Given the description of an element on the screen output the (x, y) to click on. 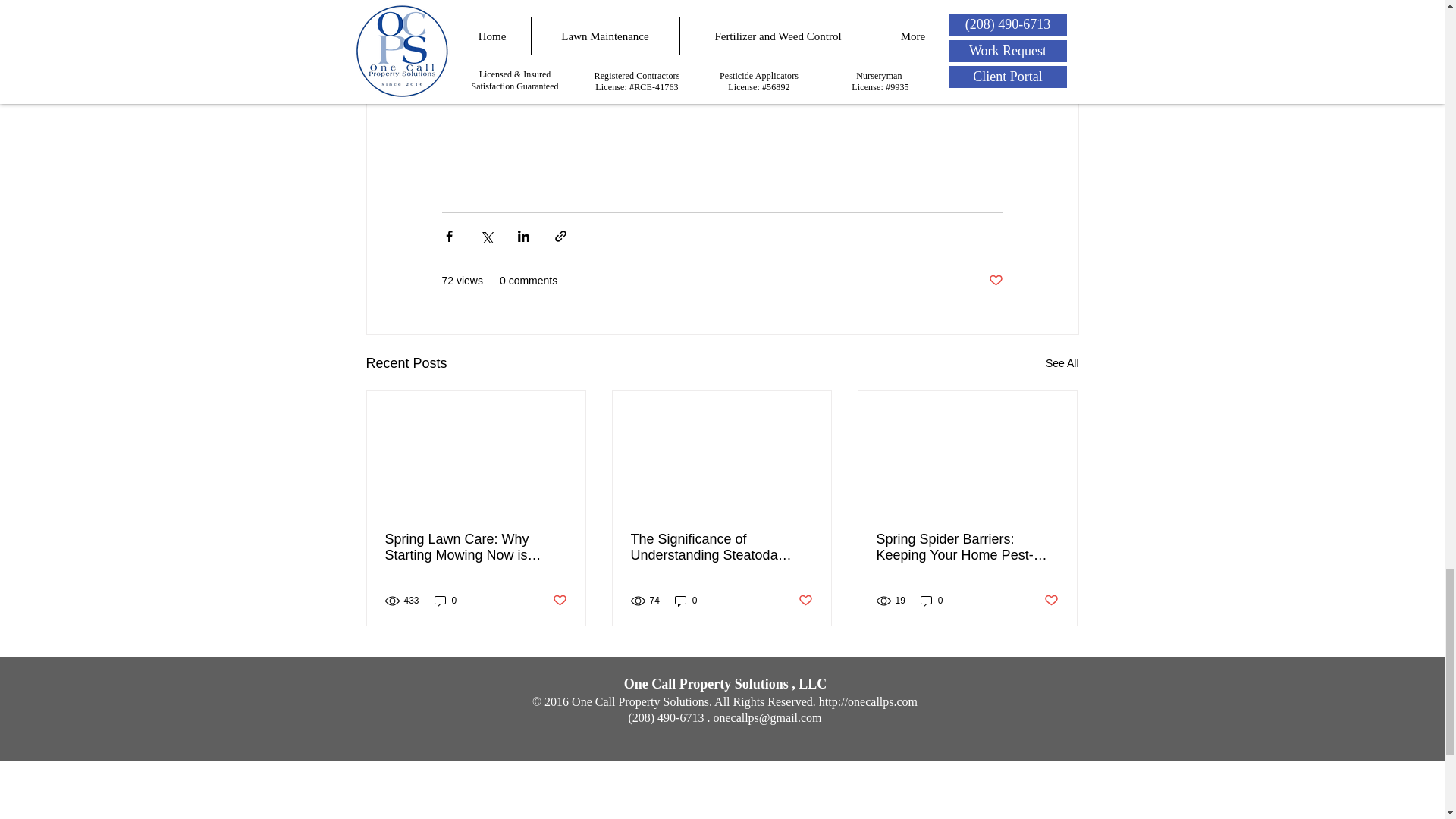
0 (685, 599)
0 (445, 599)
Post not marked as liked (995, 280)
Spring Lawn Care: Why Starting Mowing Now is Crucial (476, 547)
Post not marked as liked (804, 600)
Schedule (646, 61)
Post not marked as liked (558, 600)
See All (1061, 363)
